Given the description of an element on the screen output the (x, y) to click on. 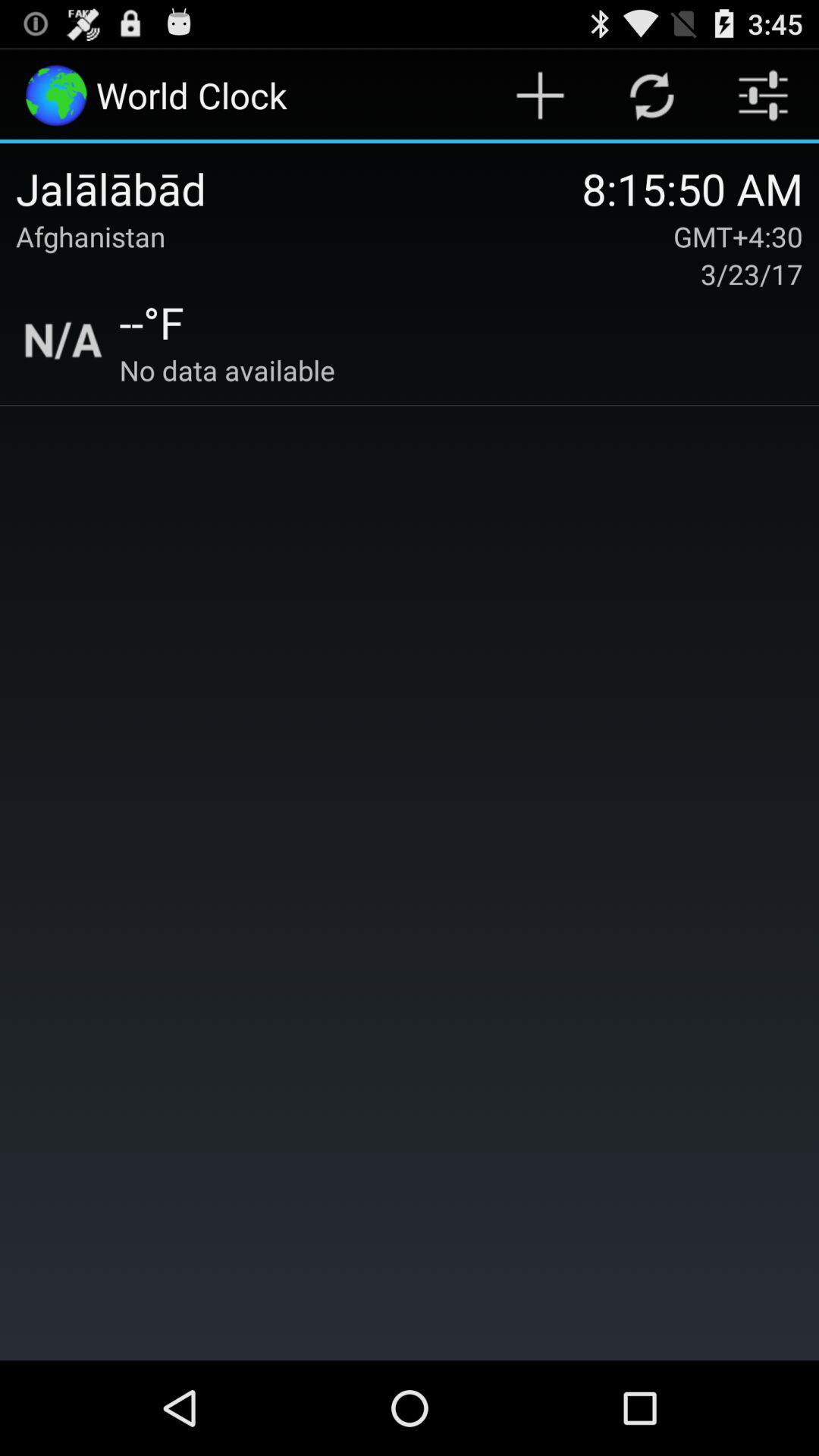
open item to the left of the 8 15 50 item (90, 236)
